Given the description of an element on the screen output the (x, y) to click on. 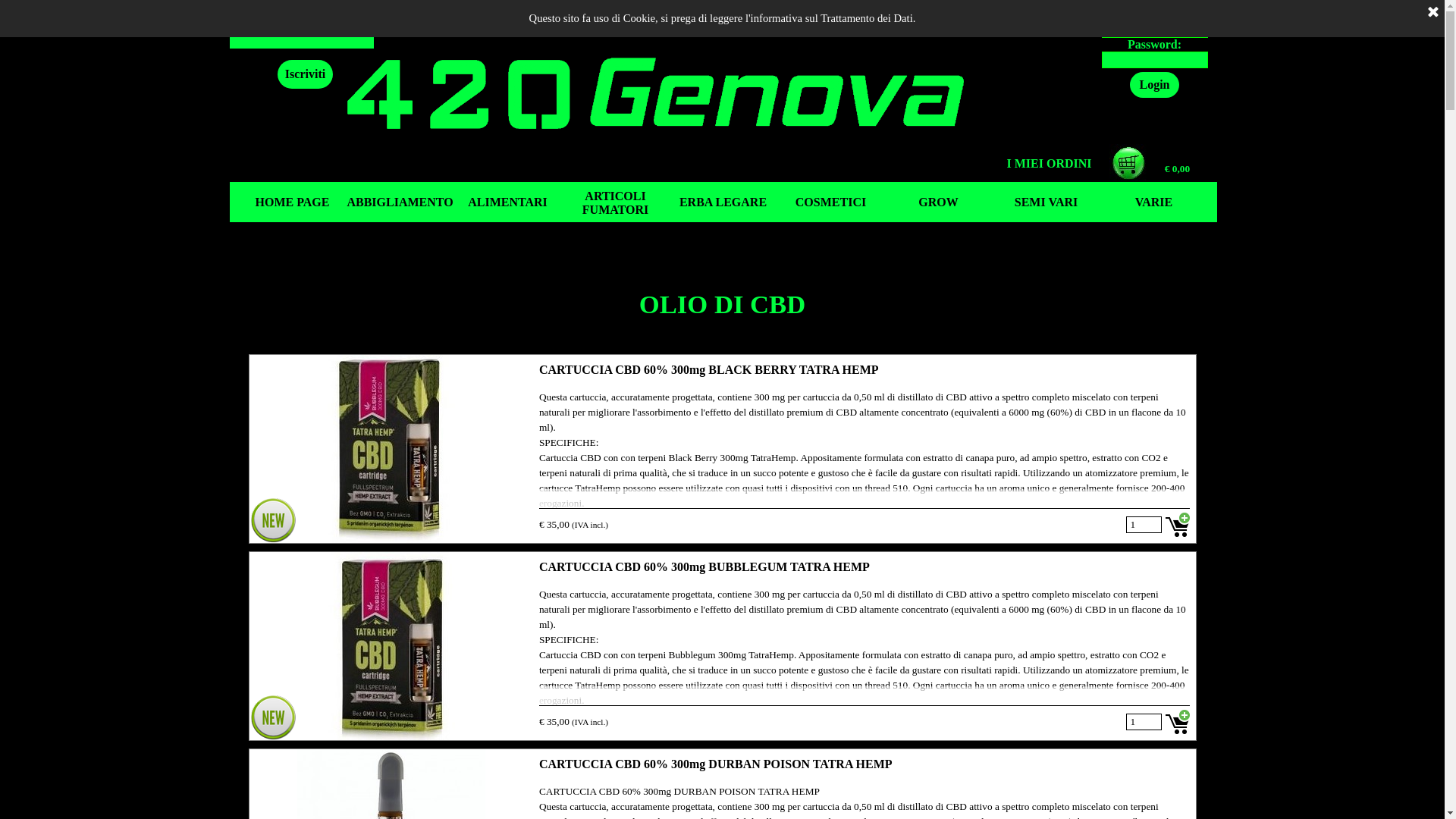
Aggiungi Element type: hover (1176, 524)
 Login  Element type: text (1153, 84)
SEMI VARI Element type: text (1045, 201)
Aggiungi Element type: hover (1176, 721)
ERBA LEGARE Element type: text (722, 201)
I MIEI ORDINI Element type: text (1048, 163)
HOME PAGE Element type: text (291, 201)
